Given the description of an element on the screen output the (x, y) to click on. 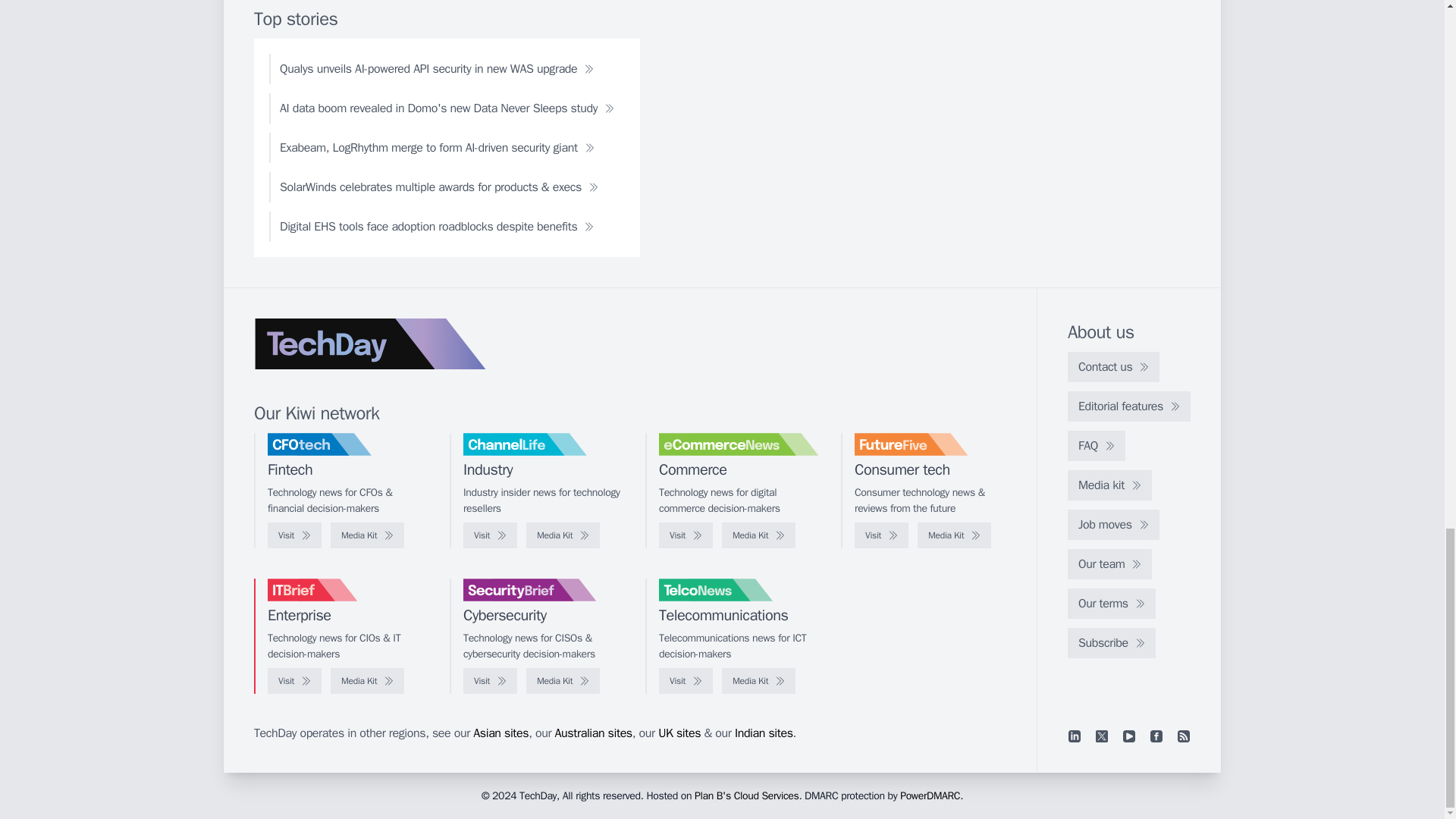
Exabeam, LogRhythm merge to form AI-driven security giant (437, 147)
Visit (686, 534)
Visit (294, 534)
Media Kit (954, 534)
Media Kit (758, 534)
Media Kit (367, 534)
Visit (489, 534)
Visit (881, 534)
Media Kit (562, 534)
AI data boom revealed in Domo's new Data Never Sleeps study (446, 108)
Digital EHS tools face adoption roadblocks despite benefits (436, 226)
Qualys unveils AI-powered API security in new WAS upgrade (436, 69)
